Given the description of an element on the screen output the (x, y) to click on. 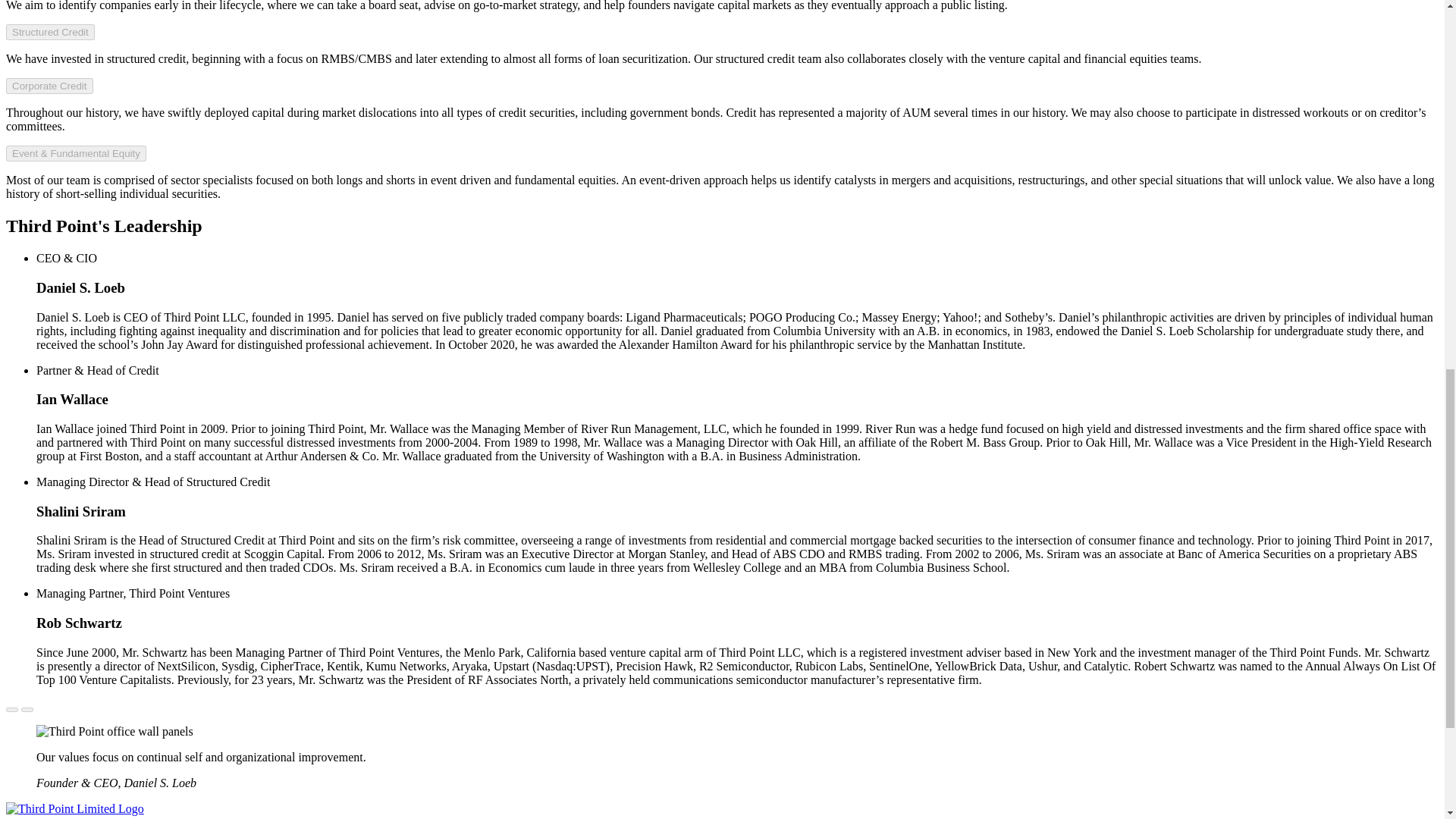
Corporate Credit (49, 85)
Structured Credit (49, 32)
